Given the description of an element on the screen output the (x, y) to click on. 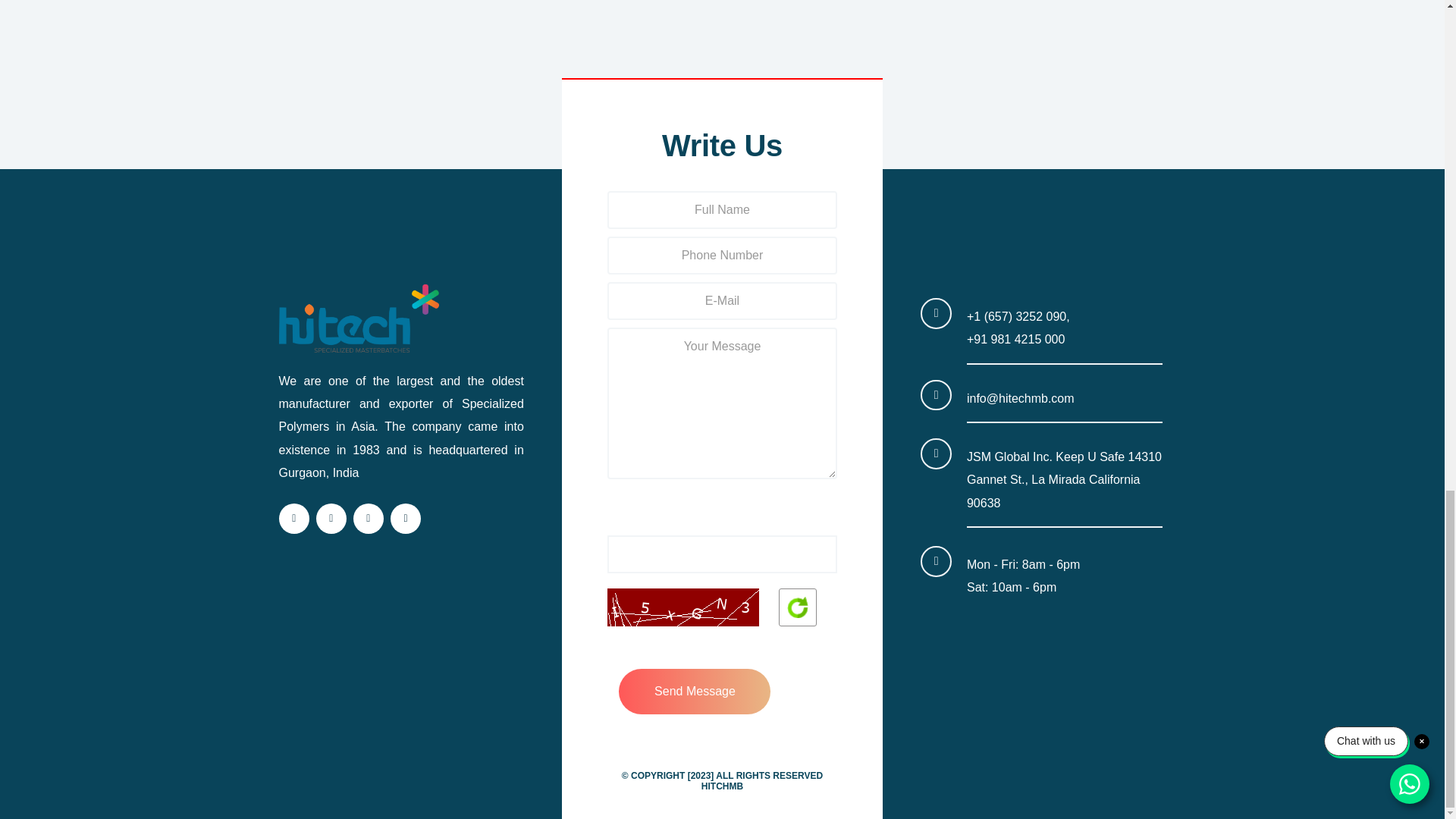
Send Message (694, 691)
